Given the description of an element on the screen output the (x, y) to click on. 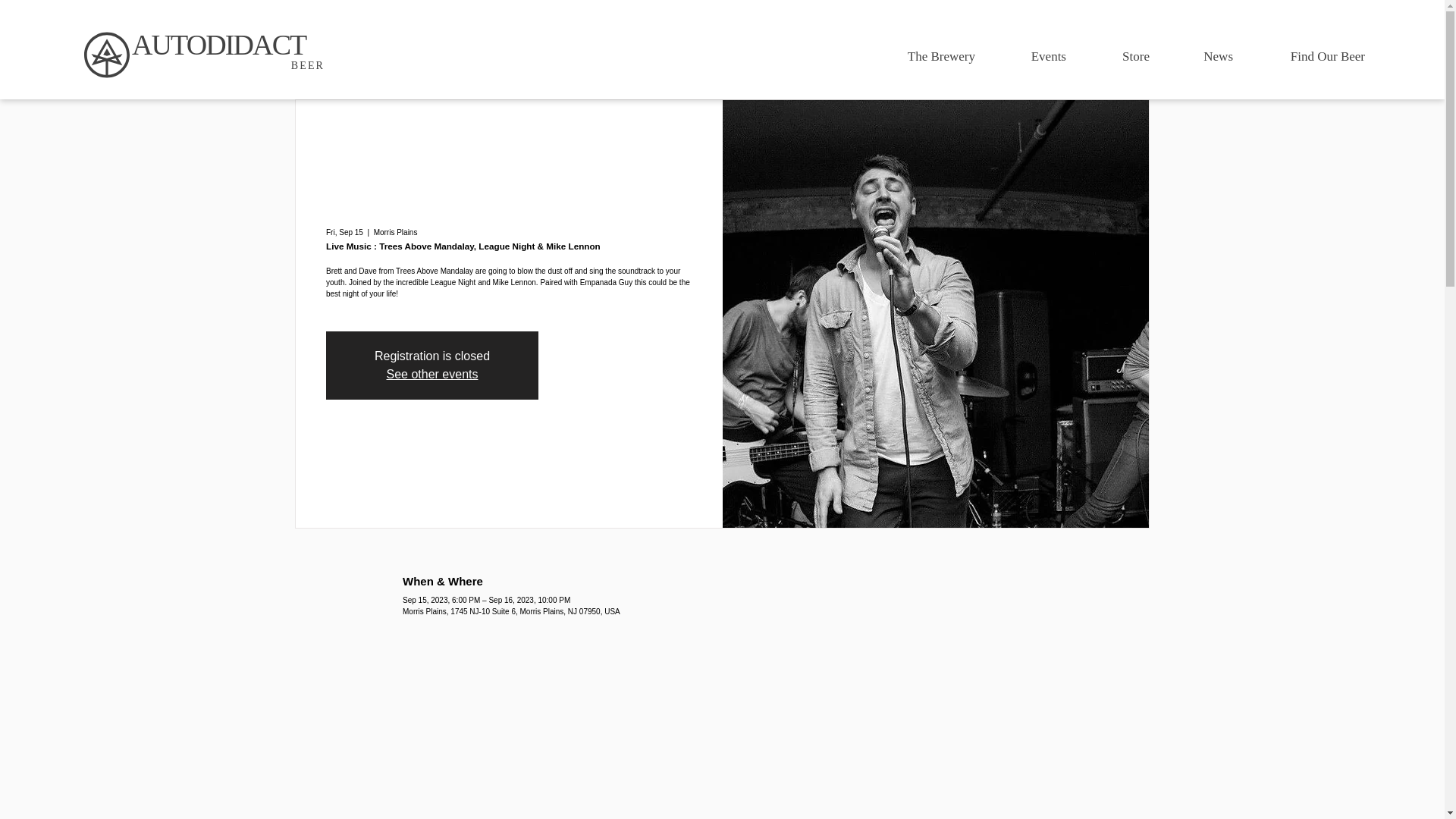
The Brewery (923, 56)
AUTODIDACT (218, 44)
Store (1118, 56)
See other events (433, 373)
News (1202, 56)
BEER (307, 65)
Find Our Beer (1309, 56)
Events (1032, 56)
